Given the description of an element on the screen output the (x, y) to click on. 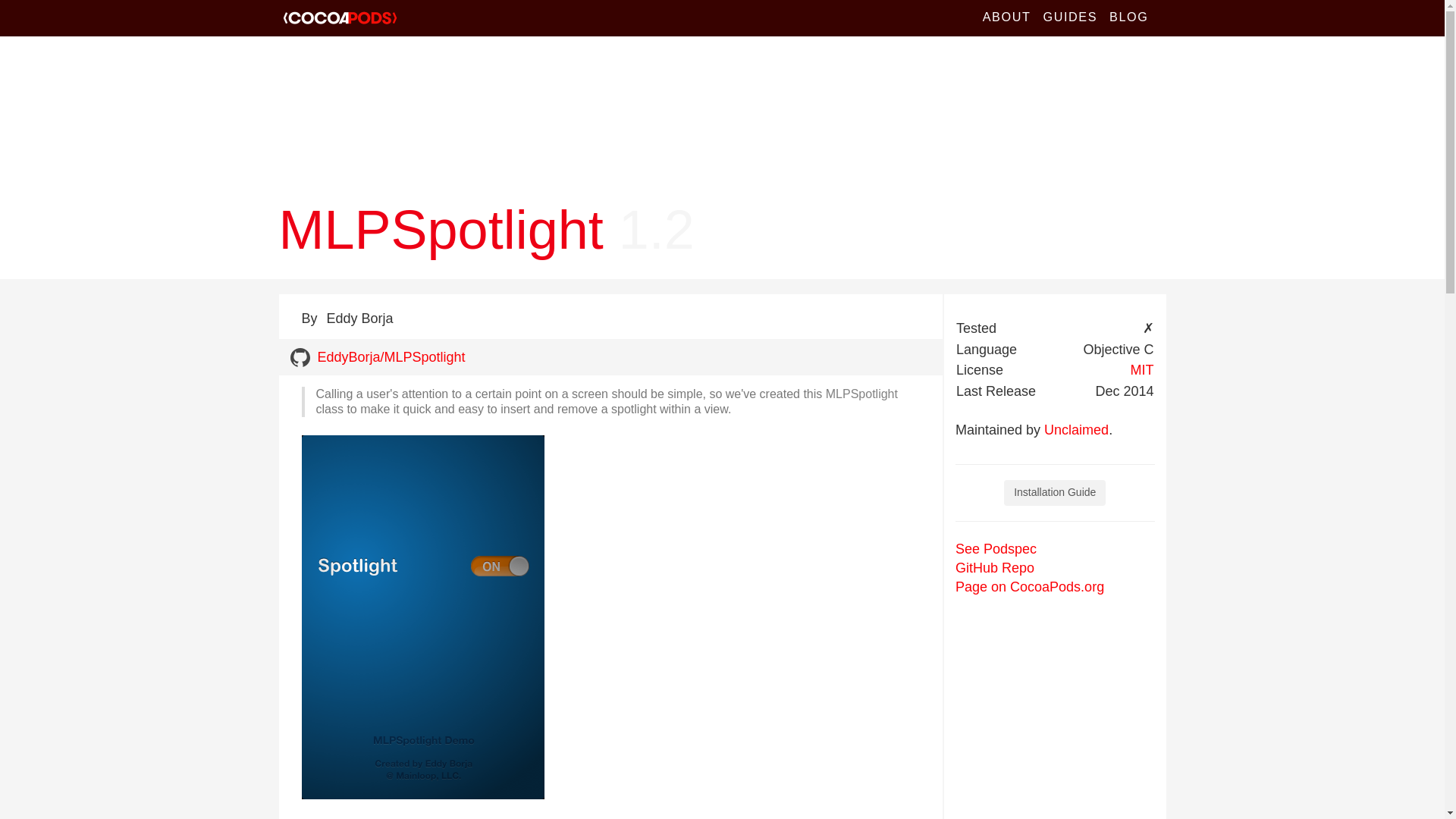
ABOUT (1006, 18)
GitHub Repo (994, 567)
Unclaimed (1075, 429)
Page on CocoaPods.org (1029, 586)
BLOG (1128, 18)
GUIDES (1069, 18)
Installation Guide (1054, 492)
MIT (1141, 369)
See Podspec (995, 548)
